Given the description of an element on the screen output the (x, y) to click on. 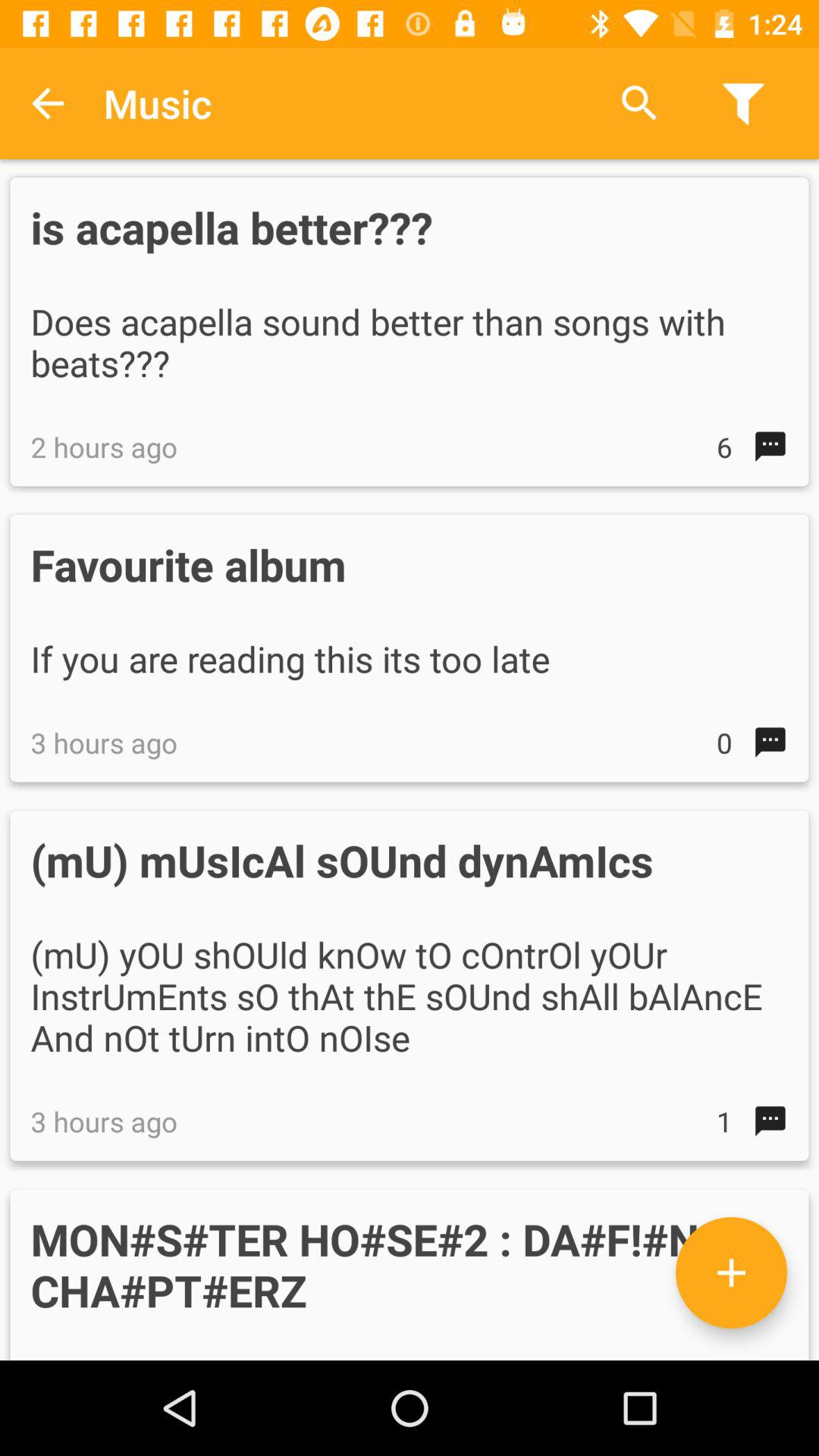
turn on app next to the music icon (47, 103)
